Given the description of an element on the screen output the (x, y) to click on. 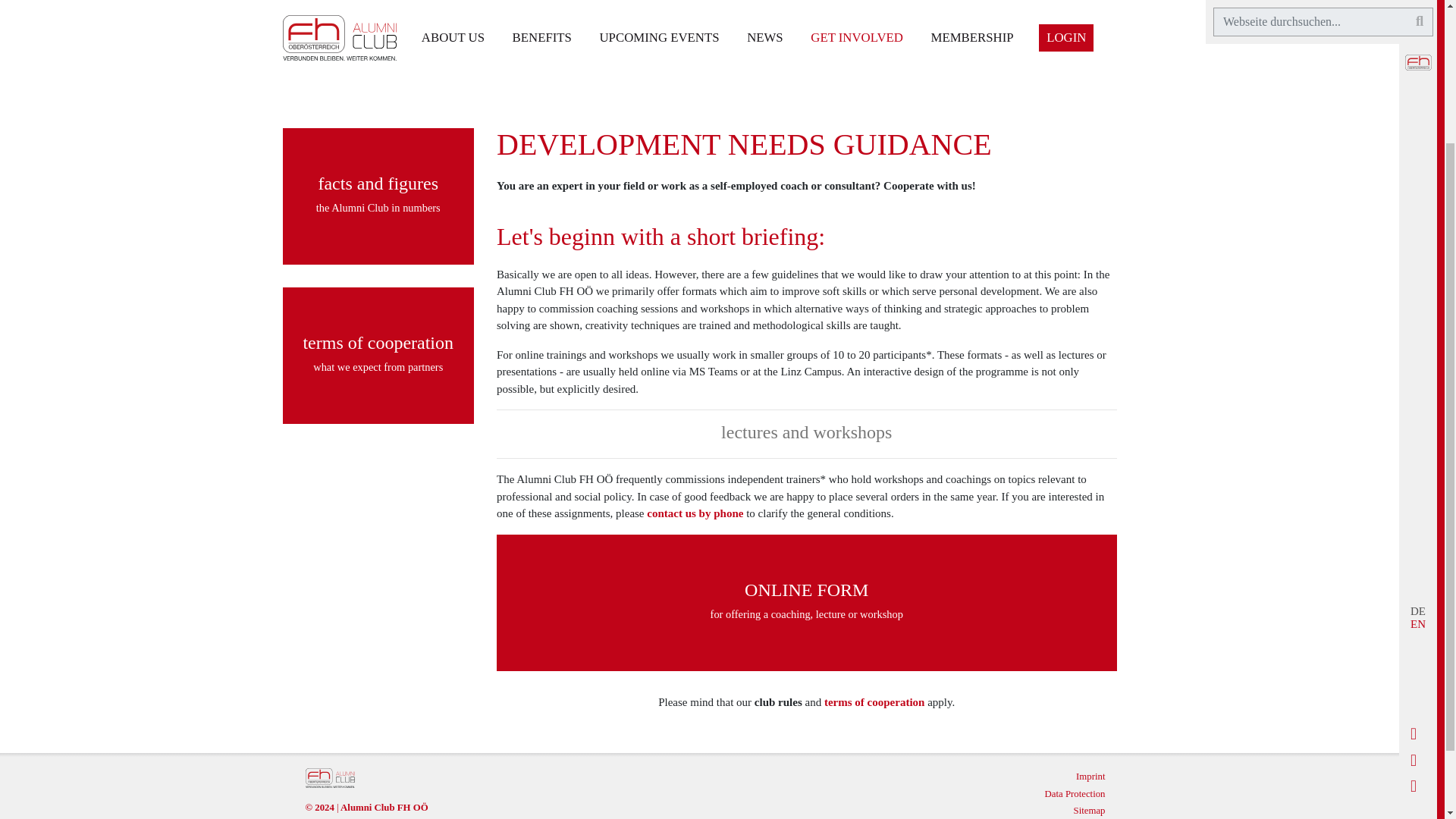
facts and figures the Alumni Club in numbers (378, 195)
ONLINE FORM for offering a coaching, lecture or workshop (806, 602)
terms of cooperation what we expect from partners (378, 355)
contact us by phone (694, 512)
terms of cooperation (874, 702)
